Given the description of an element on the screen output the (x, y) to click on. 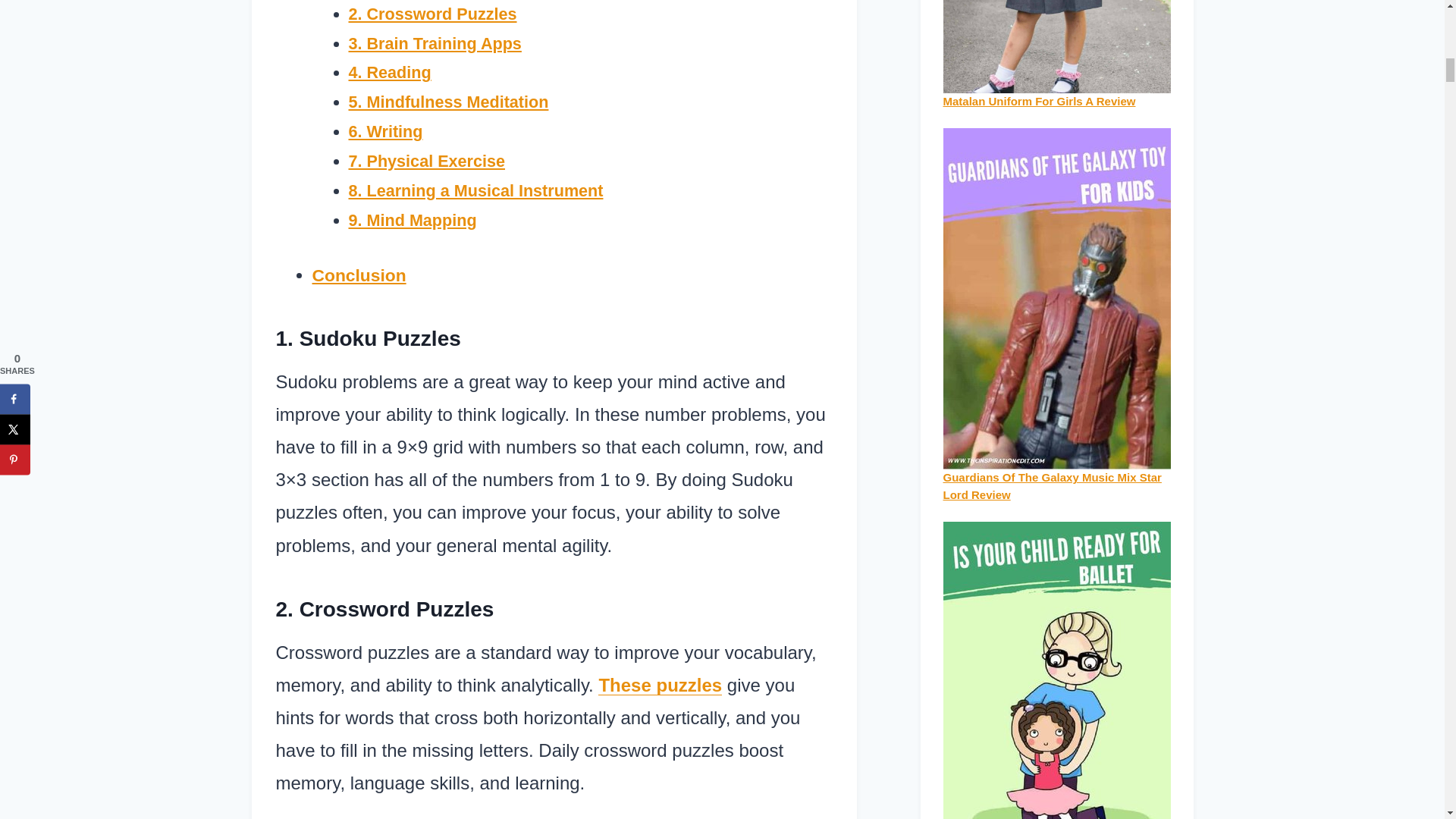
3. Brain Training Apps (435, 43)
9. Mind Mapping (413, 220)
6. Writing (386, 131)
2. Crossword Puzzles (432, 13)
5. Mindfulness Meditation (448, 101)
7. Physical Exercise (427, 160)
4. Reading (389, 72)
8. Learning a Musical Instrument (476, 189)
